Given the description of an element on the screen output the (x, y) to click on. 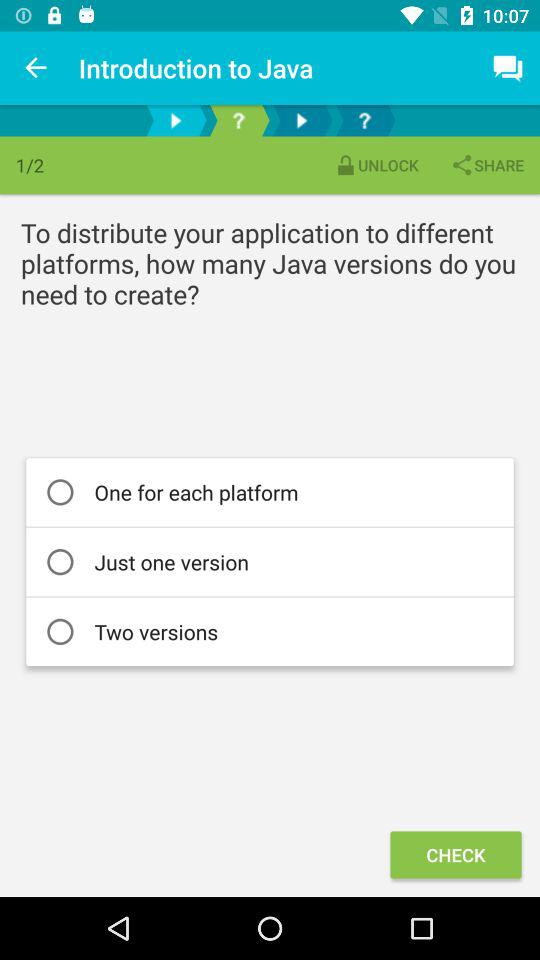
tap icon next to the unlock item (487, 164)
